Given the description of an element on the screen output the (x, y) to click on. 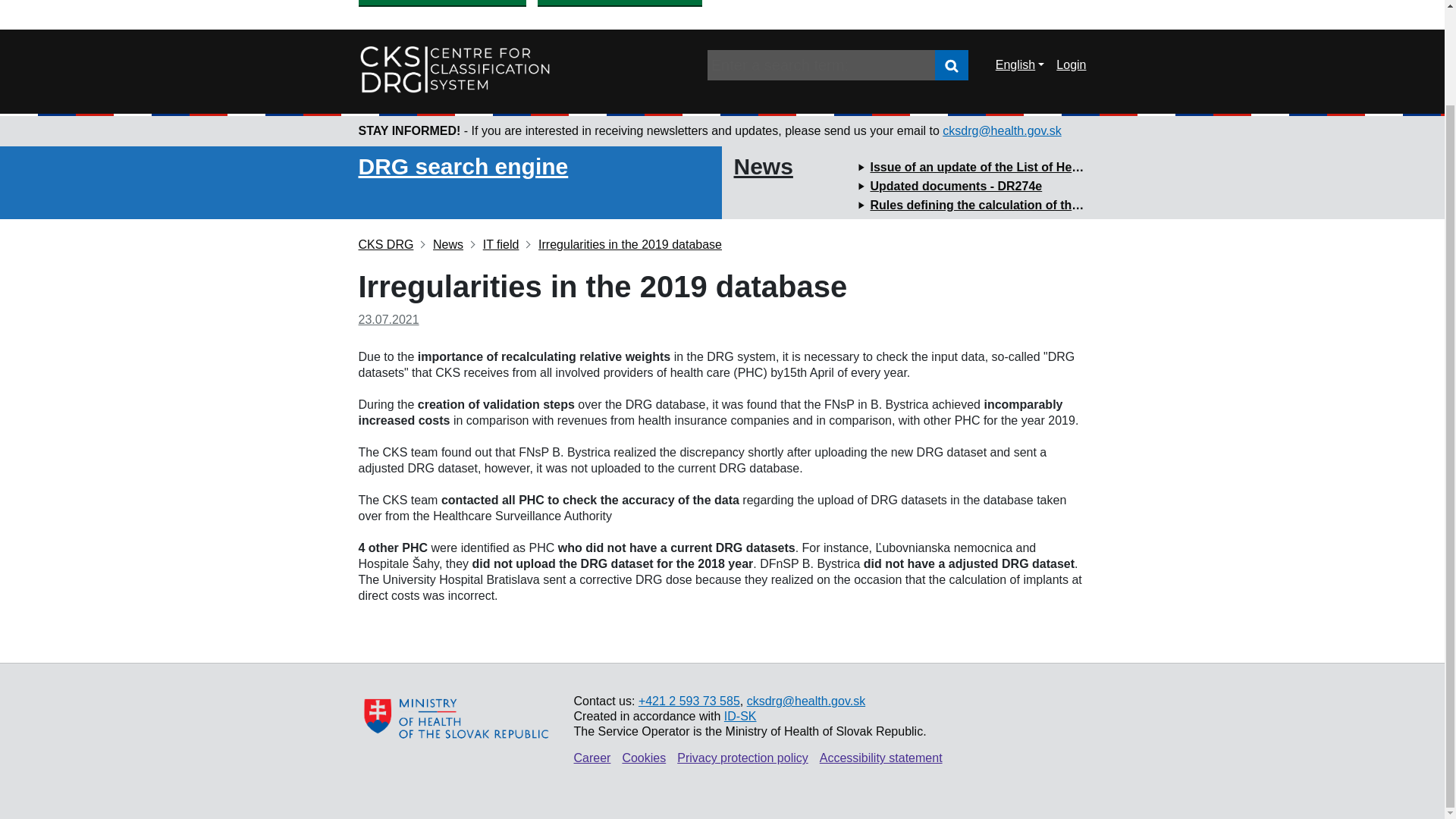
News (441, 244)
Issue of an update of the List of Health Procedures (1016, 166)
CKS DRG (385, 244)
Reject analytic cookies (619, 2)
IT field (494, 244)
News (441, 244)
News (763, 166)
Irregularities in the 2019 database (623, 244)
Login (1071, 64)
English (1020, 64)
Search (951, 65)
CKS DRG (385, 244)
Updated documents - DR274e (955, 185)
Issue of an update of the List of Health Procedures (1016, 166)
DRG search engine (462, 166)
